Given the description of an element on the screen output the (x, y) to click on. 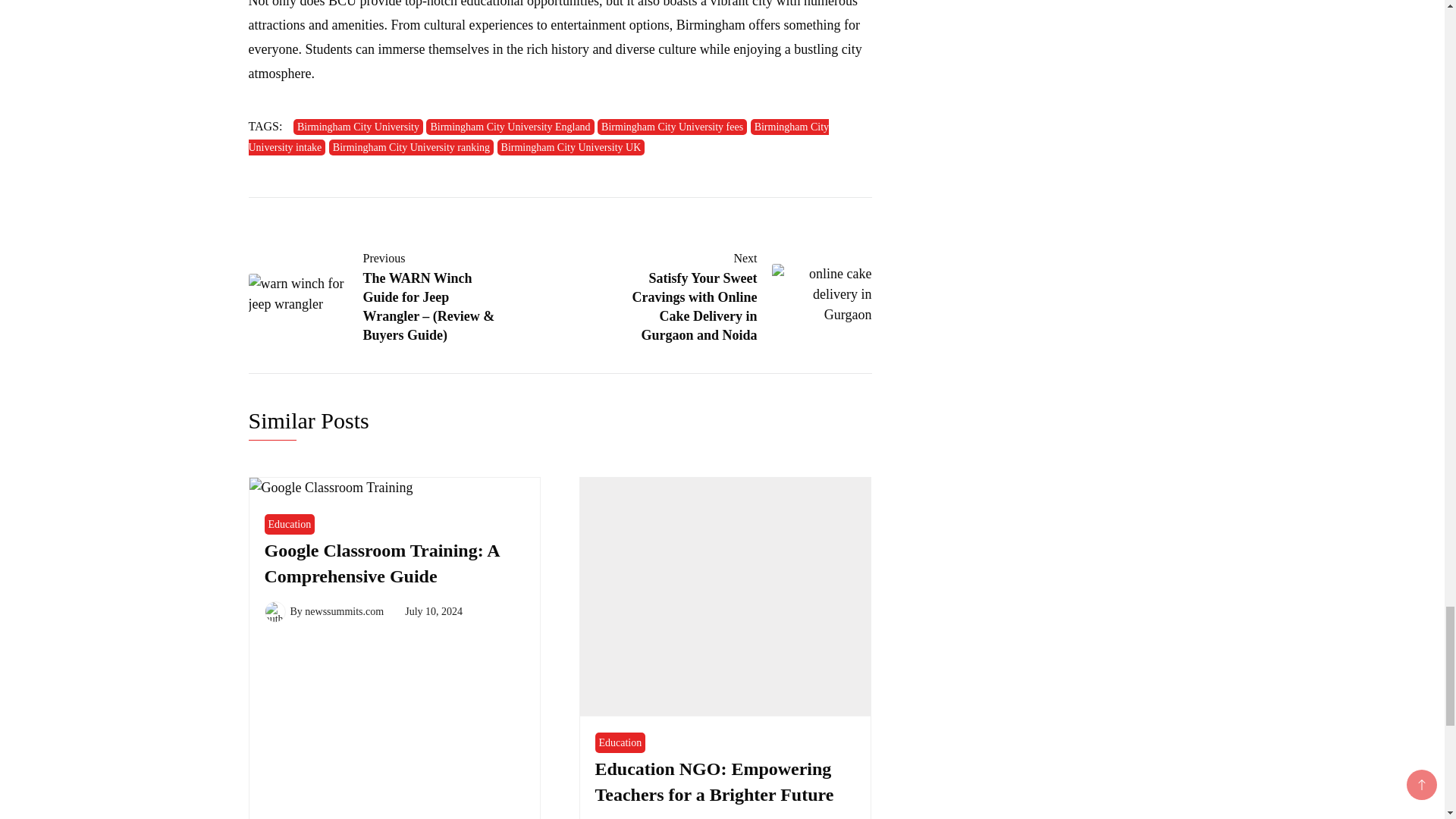
Birmingham City University (358, 126)
Birmingham City University intake (538, 136)
Birmingham City University fees (671, 126)
Birmingham City University England (510, 126)
options (648, 24)
